Given the description of an element on the screen output the (x, y) to click on. 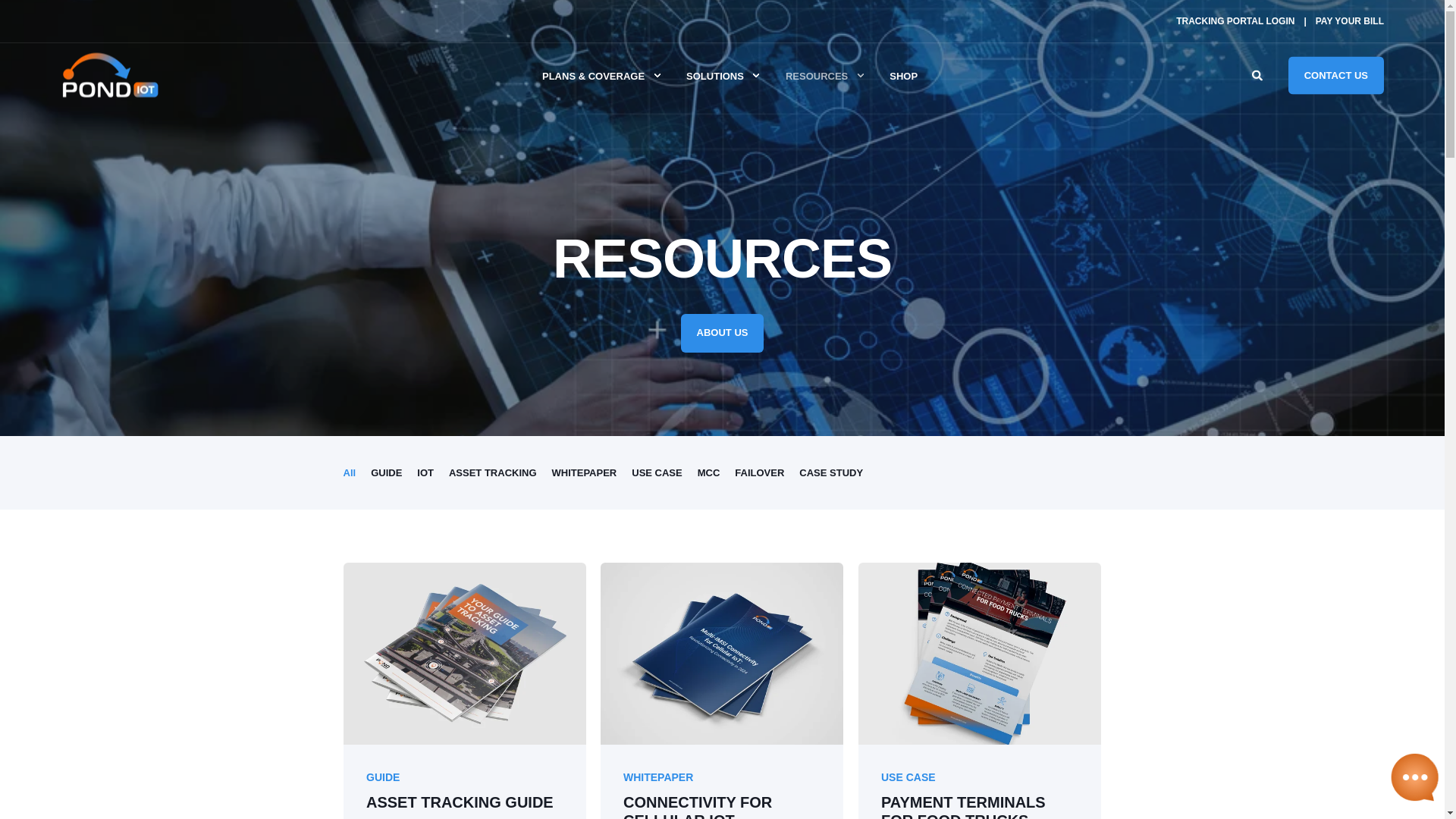
PAY YOUR BILL (1350, 20)
Button ABOUT US (722, 332)
TRACKING PORTAL LOGIN (1235, 20)
